Given the description of an element on the screen output the (x, y) to click on. 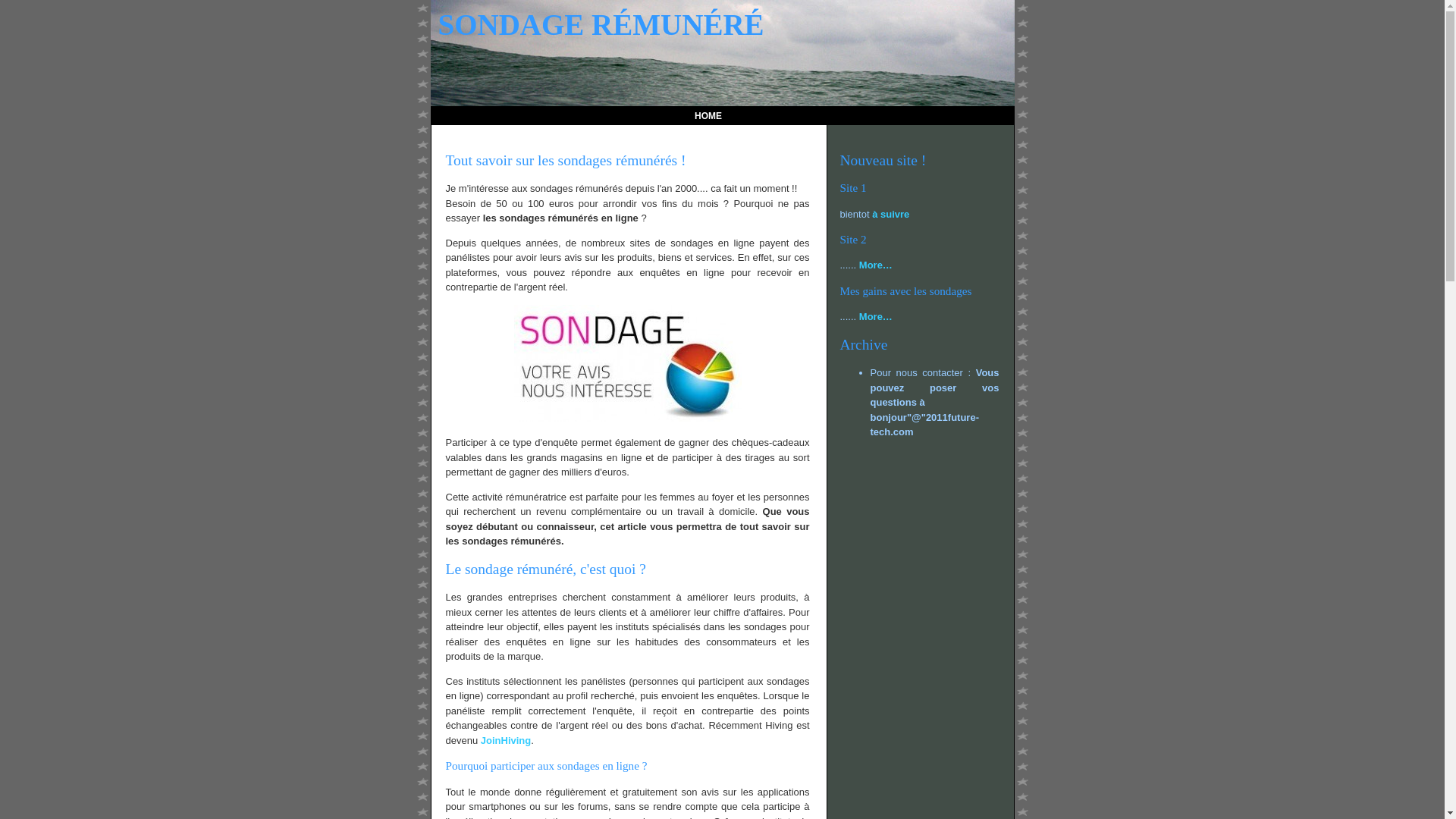
  Element type: text (748, 115)
JoinHiving Element type: text (505, 740)
HOME Element type: text (708, 115)
